Given the description of an element on the screen output the (x, y) to click on. 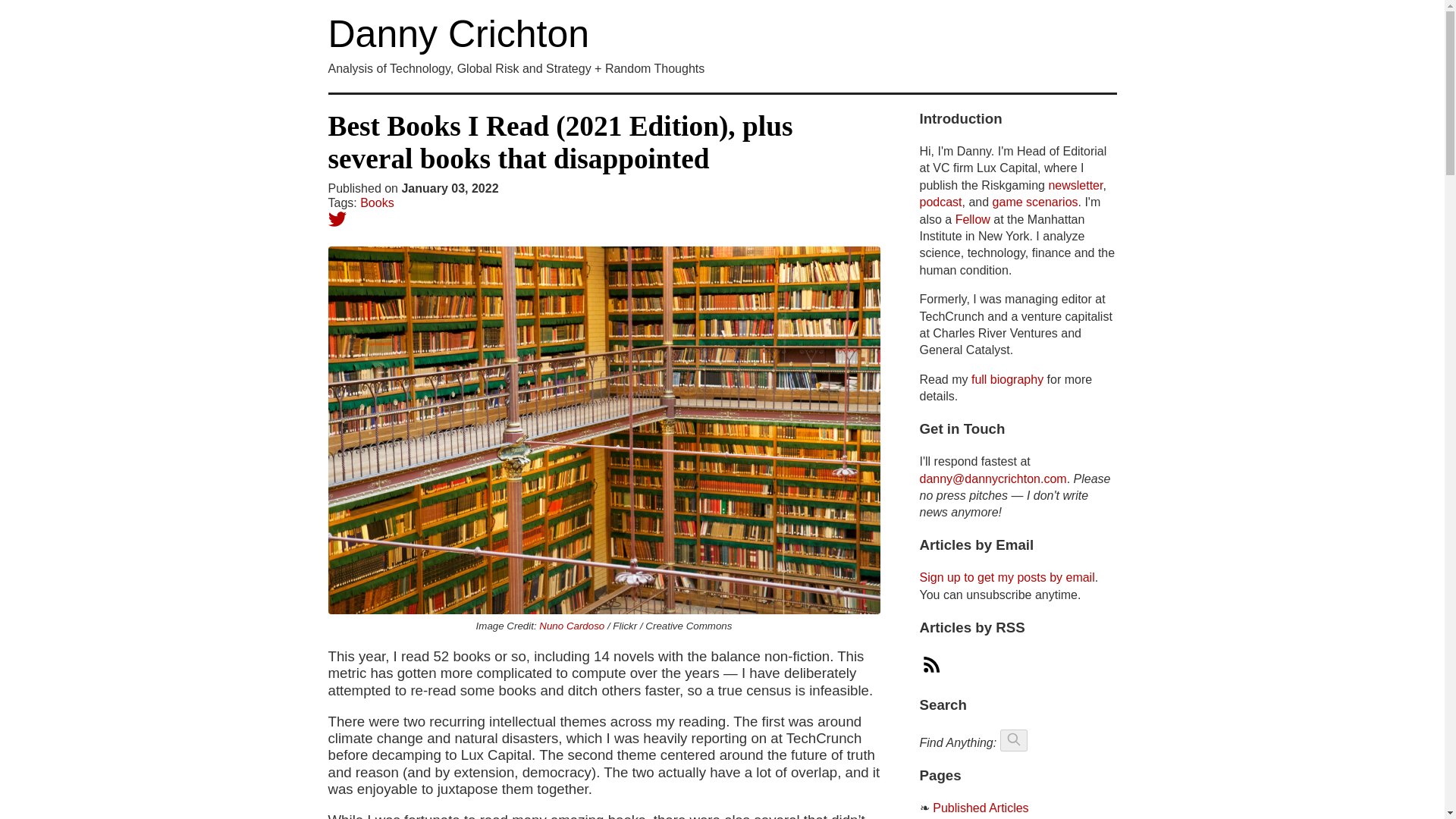
newsletter (1075, 185)
Fellow (972, 219)
Books (376, 202)
Sign up to get my posts by email (1006, 576)
Published Articles (980, 807)
full biography (1007, 379)
Nuno Cardoso (571, 625)
game scenarios (1035, 201)
podcast (939, 201)
Danny Crichton (458, 34)
